Given the description of an element on the screen output the (x, y) to click on. 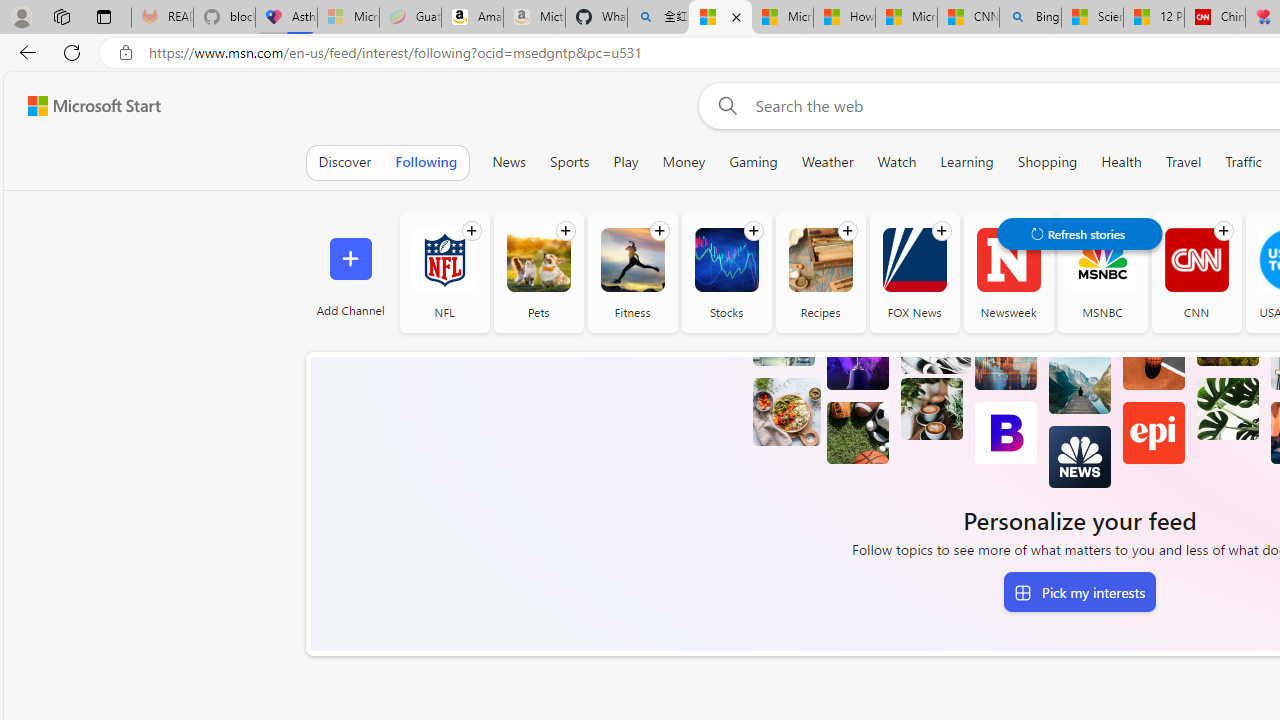
Pets (537, 272)
News (508, 161)
Health (1121, 161)
Fitness (632, 260)
CNN (1195, 272)
Personal Profile (21, 16)
Stocks (725, 272)
Web search (724, 105)
Recipes (820, 272)
Pick my interests (1079, 591)
Microsoft Start (905, 17)
Travel (1183, 162)
Workspaces (61, 16)
